Given the description of an element on the screen output the (x, y) to click on. 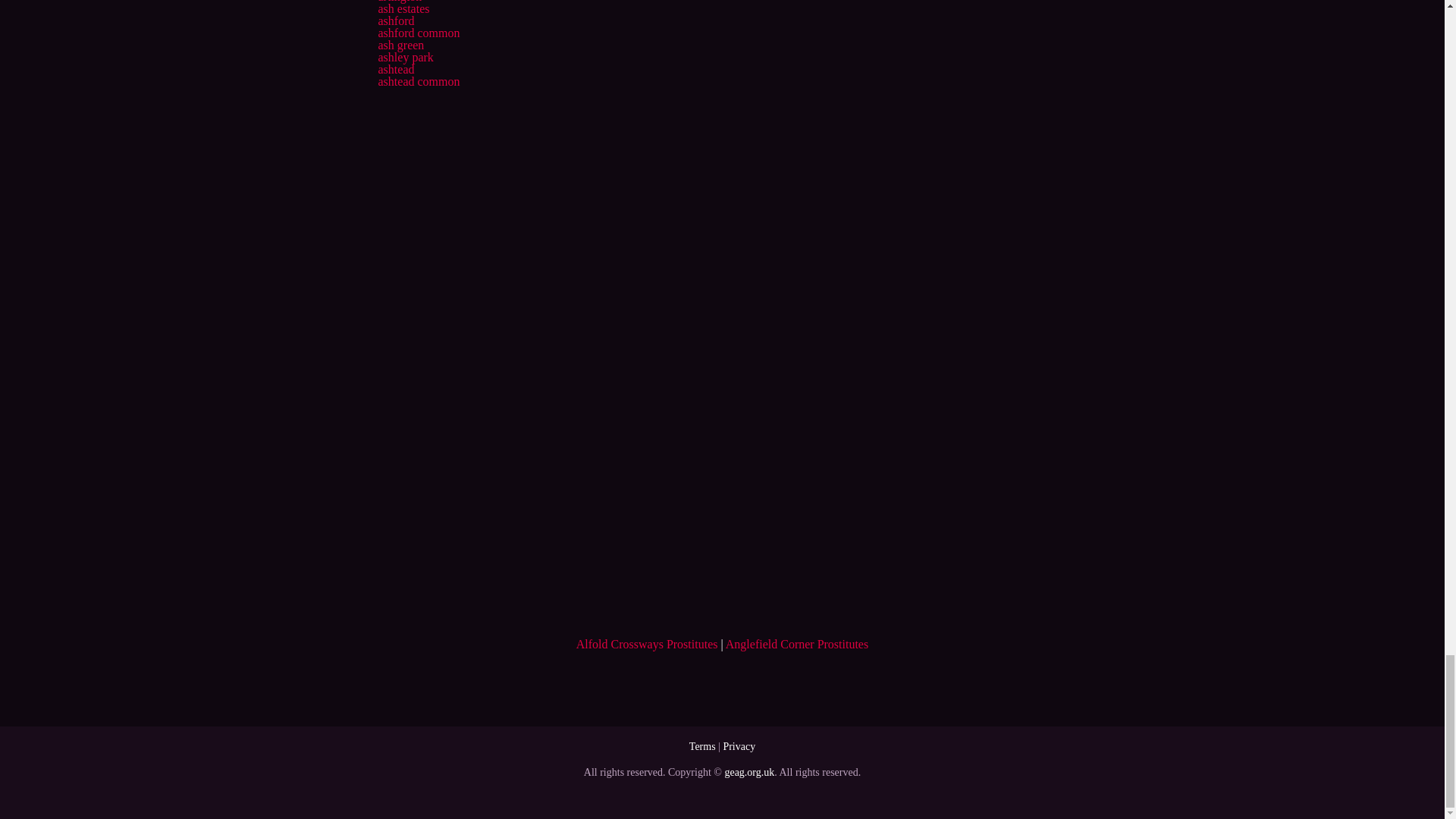
geag.org.uk (748, 772)
Anglefield Corner Prostitutes (796, 644)
artington (399, 1)
ashford common (418, 32)
ashtead common (418, 81)
ashtead (395, 69)
Terms (702, 746)
Terms (702, 746)
Privacy (738, 746)
Alfold Crossways Prostitutes (646, 644)
ashford (395, 20)
ash green (400, 44)
Privacy (738, 746)
ashley park (404, 56)
ash estates (403, 8)
